Given the description of an element on the screen output the (x, y) to click on. 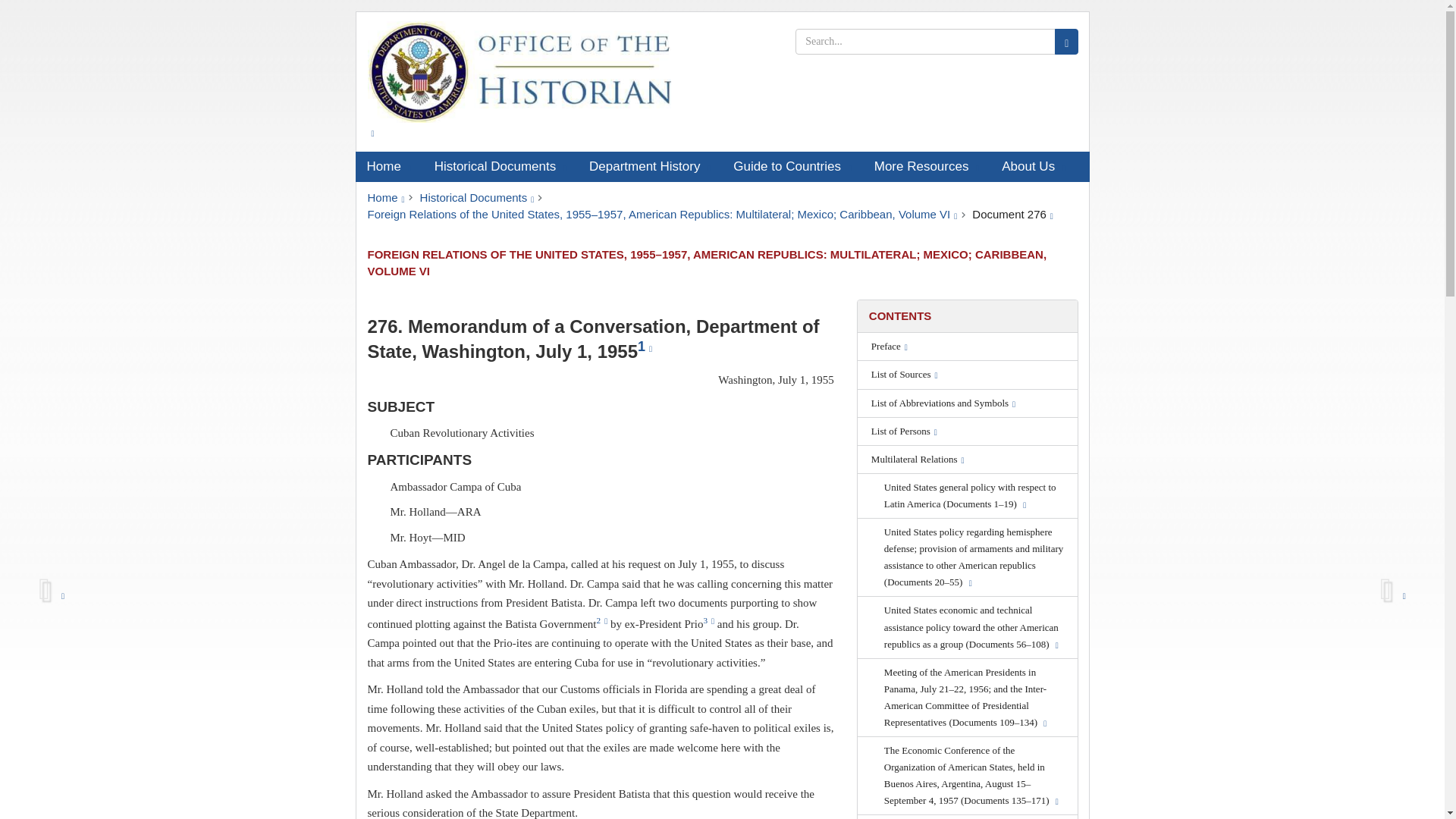
More Resources (926, 166)
Home (388, 166)
Home (385, 196)
Guide to Countries (792, 166)
Historical Documents (500, 166)
About Us (1033, 166)
Document 276 (1012, 214)
Department History (650, 166)
Historical Documents (477, 196)
